Given the description of an element on the screen output the (x, y) to click on. 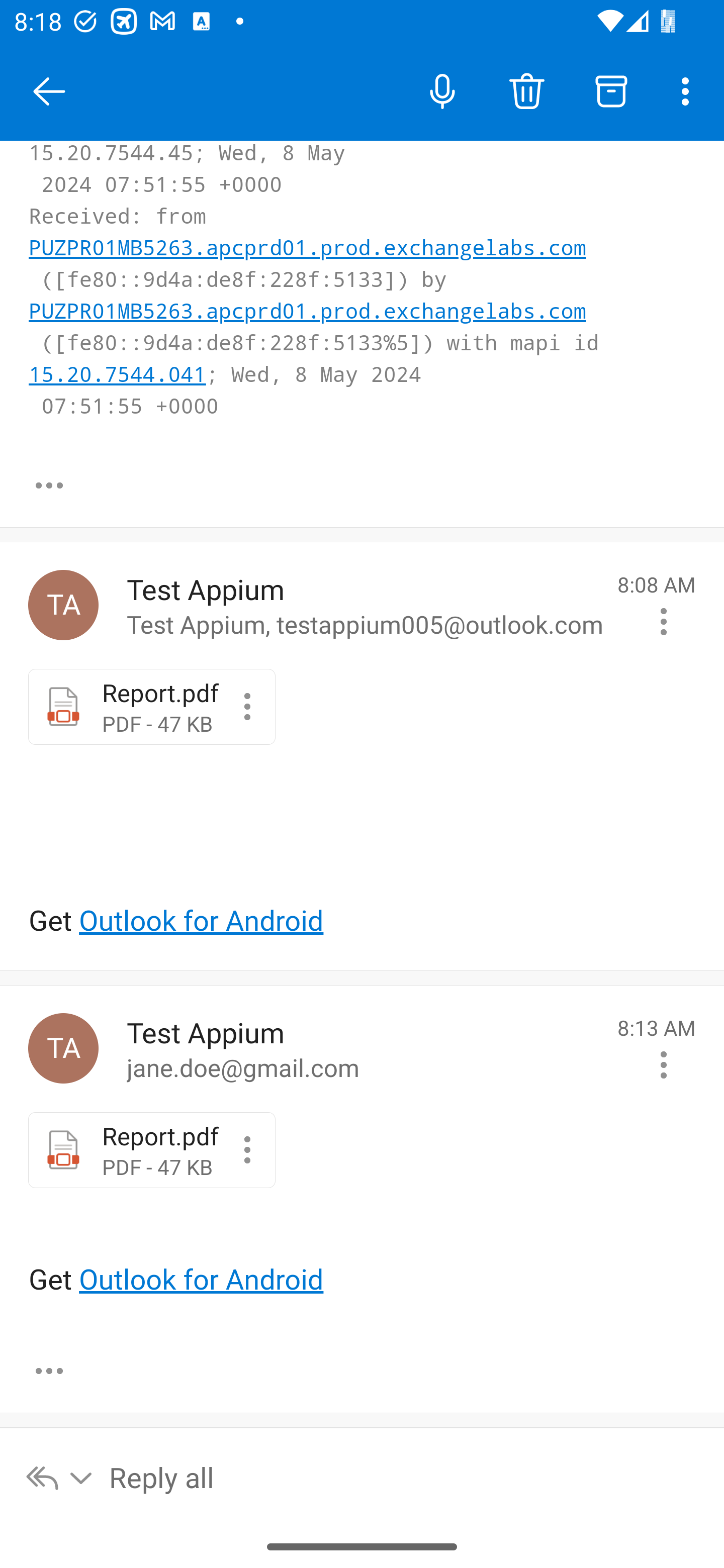
Close (49, 91)
Delete (526, 90)
Archive (611, 90)
More options (688, 90)
PUZPR01MB5263.apcprd01.prod.exchangelabs.com (307, 248)
PUZPR01MB5263.apcprd01.prod.exchangelabs.com (307, 312)
15.20.7544.041 (117, 375)
Open full message (49, 485)
Test Appium, testappium002@outlook.com (63, 604)
Message actions (663, 621)
Report.pdf (246, 706)
Outlook for Android (201, 921)
Test Appium, testappium002@outlook.com (63, 1047)
Test Appium
to jane.doe@gmail.com (364, 1047)
Message actions (663, 1065)
Report.pdf (246, 1149)
Outlook for Android (201, 1280)
Open full message (49, 1370)
Reply options (59, 1476)
